Given the description of an element on the screen output the (x, y) to click on. 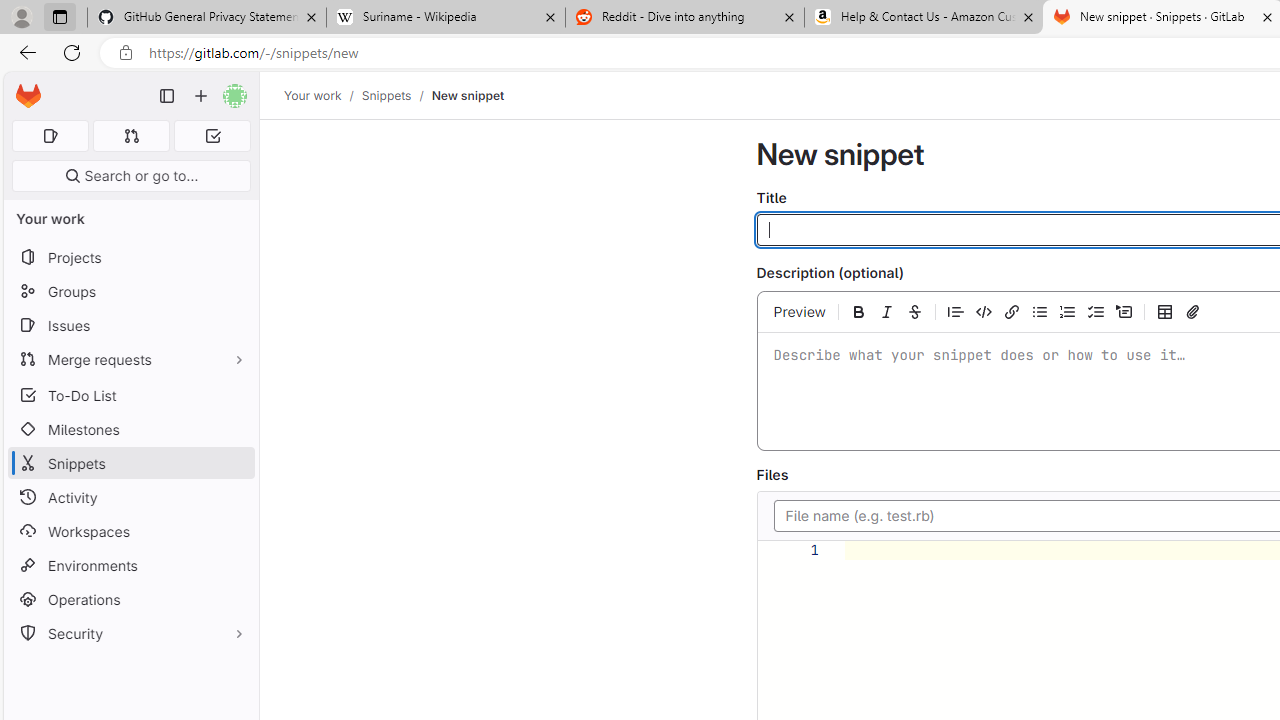
Milestones (130, 429)
Groups (130, 291)
To-Do List (130, 394)
To-Do List (130, 394)
Merge requests (130, 358)
Insert a quote (955, 311)
Operations (130, 599)
Projects (130, 257)
Security (130, 633)
Assigned issues 0 (50, 136)
Milestones (130, 429)
